Given the description of an element on the screen output the (x, y) to click on. 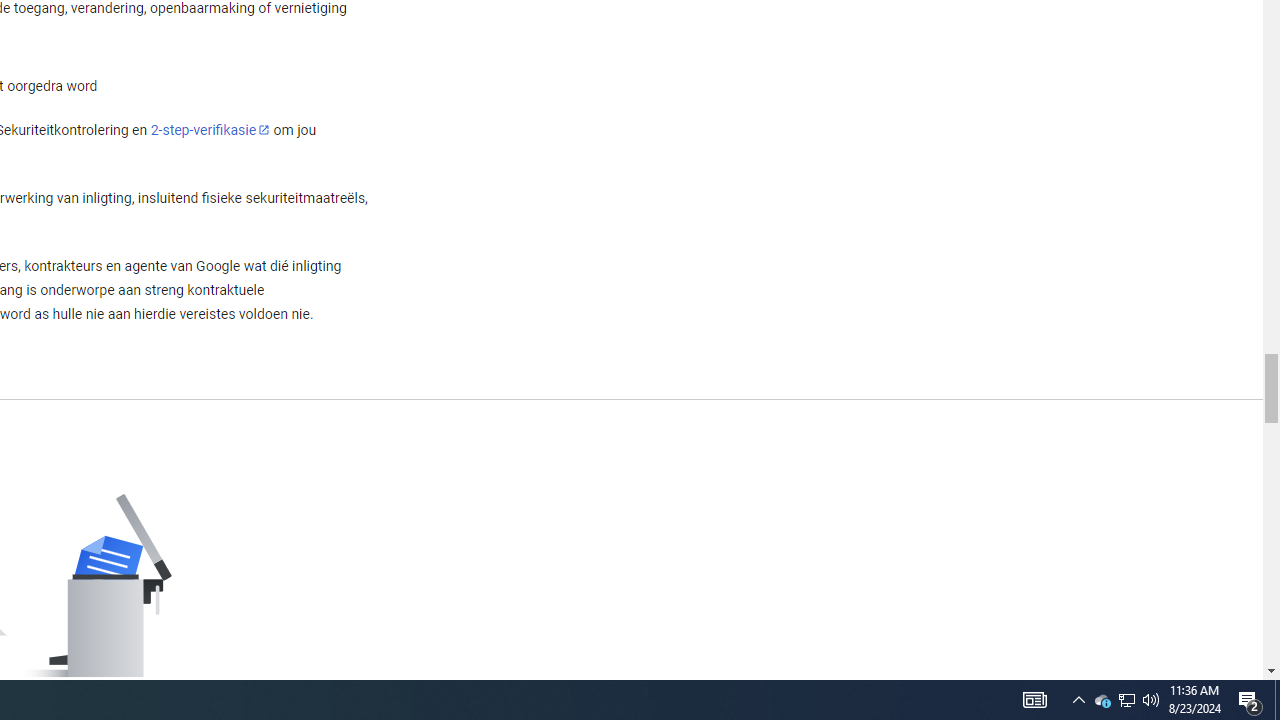
2-step-verifikasie (210, 129)
